Given the description of an element on the screen output the (x, y) to click on. 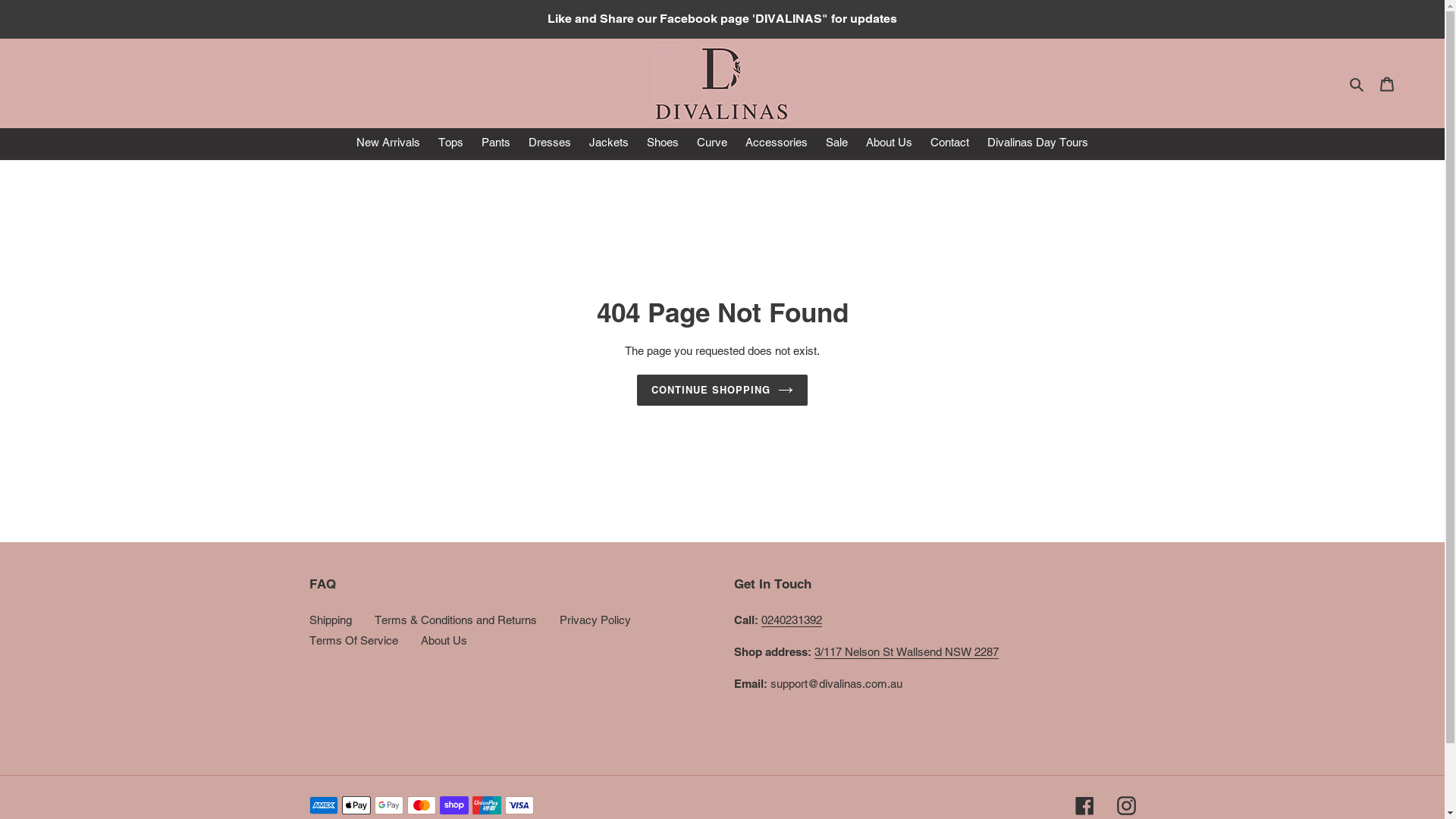
Shipping Element type: text (330, 618)
Curve Element type: text (711, 143)
Divalinas Day Tours Element type: text (1037, 143)
3/117 Nelson St Wallsend NSW 2287 Element type: text (906, 651)
Search Element type: text (1357, 83)
Tops Element type: text (450, 143)
Facebook Element type: text (1084, 805)
CONTINUE SHOPPING Element type: text (722, 389)
New Arrivals Element type: text (387, 143)
Contact Element type: text (949, 143)
0240231392 Element type: text (791, 619)
About Us Element type: text (888, 143)
About Us Element type: text (443, 639)
Terms Of Service Element type: text (353, 639)
Pants Element type: text (495, 143)
Jackets Element type: text (608, 143)
Instagram Element type: text (1125, 805)
Sale Element type: text (836, 143)
Cart Element type: text (1386, 83)
Terms & Conditions and Returns Element type: text (455, 618)
Shoes Element type: text (662, 143)
Privacy Policy Element type: text (594, 618)
Accessories Element type: text (776, 143)
Dresses Element type: text (549, 143)
